Given the description of an element on the screen output the (x, y) to click on. 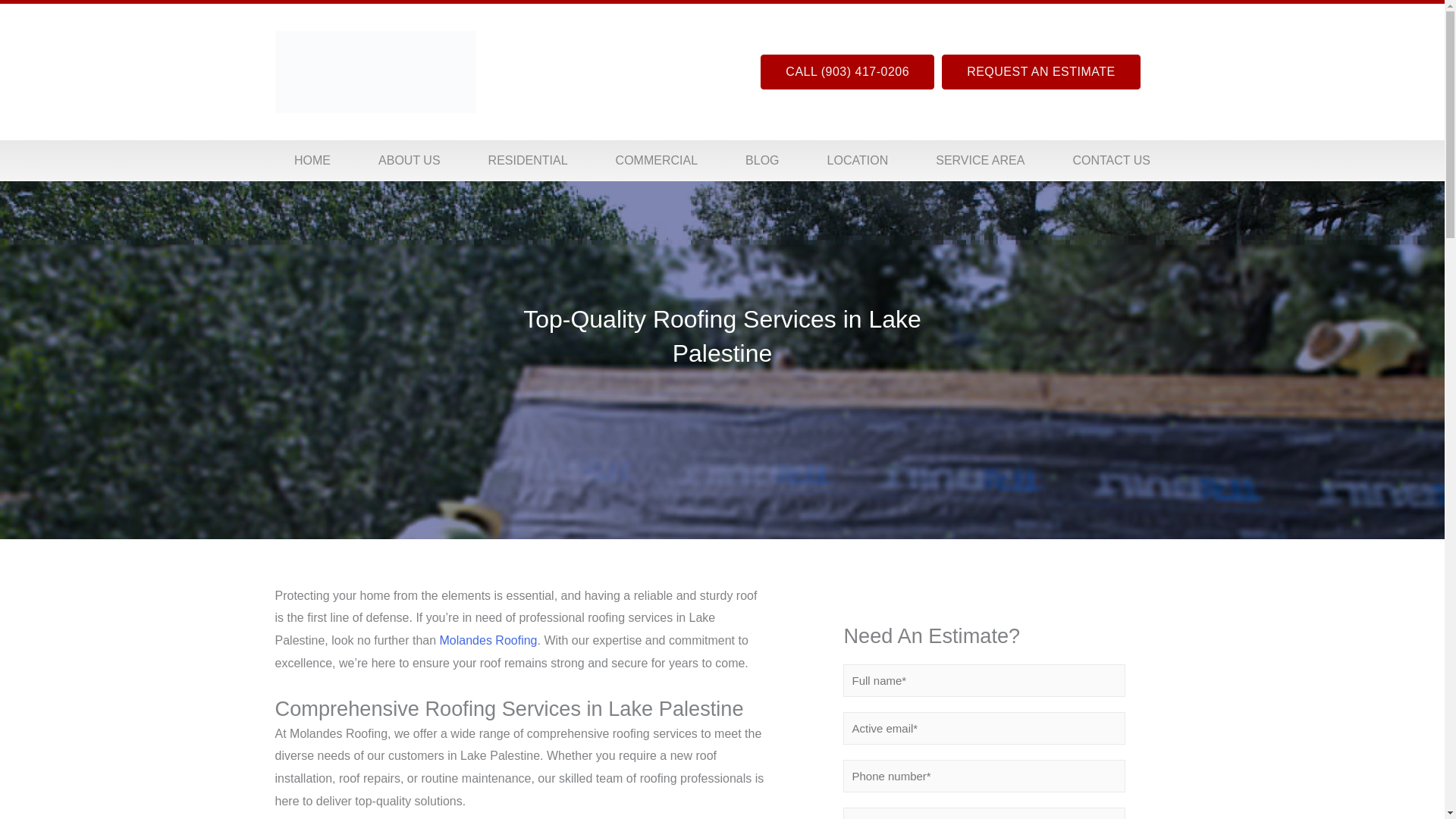
BLOG (762, 160)
SERVICE AREA (980, 160)
COMMERCIAL (656, 160)
ABOUT US (409, 160)
HOME (311, 160)
LOCATION (857, 160)
RESIDENTIAL (527, 160)
REQUEST AN ESTIMATE (1041, 71)
